Given the description of an element on the screen output the (x, y) to click on. 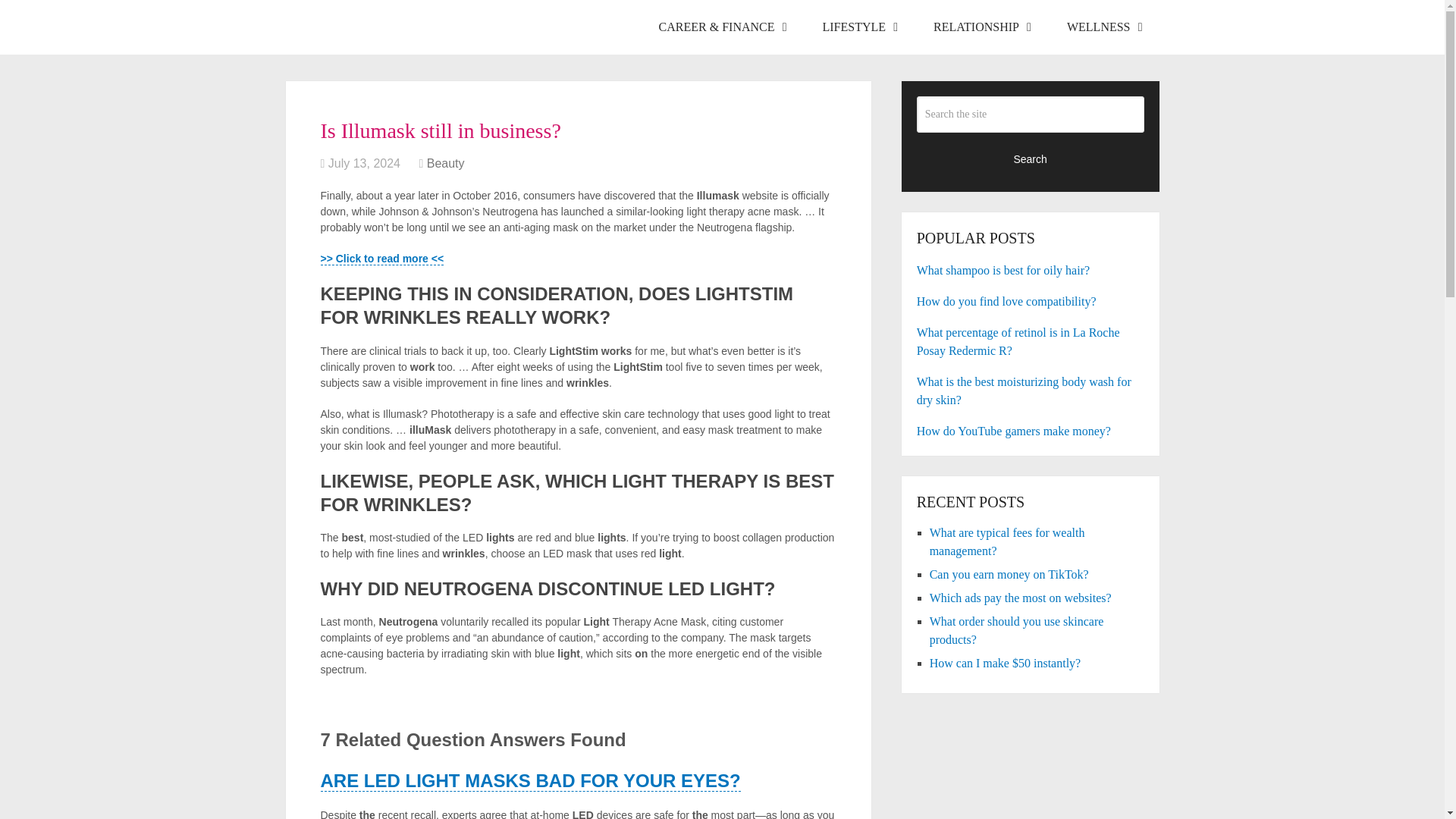
LIFESTYLE (859, 27)
WELLNESS (1103, 27)
Is Illumask still in business? (382, 258)
RELATIONSHIP (981, 27)
What percentage of retinol is in La Roche Posay Redermic R? (1030, 341)
What shampoo is best for oily hair? (1030, 270)
Are LED light masks bad for your eyes? (529, 780)
What is the best moisturizing body wash for dry skin? (1030, 391)
How do you find love compatibility? (1030, 301)
View all posts in Beauty (445, 163)
